Given the description of an element on the screen output the (x, y) to click on. 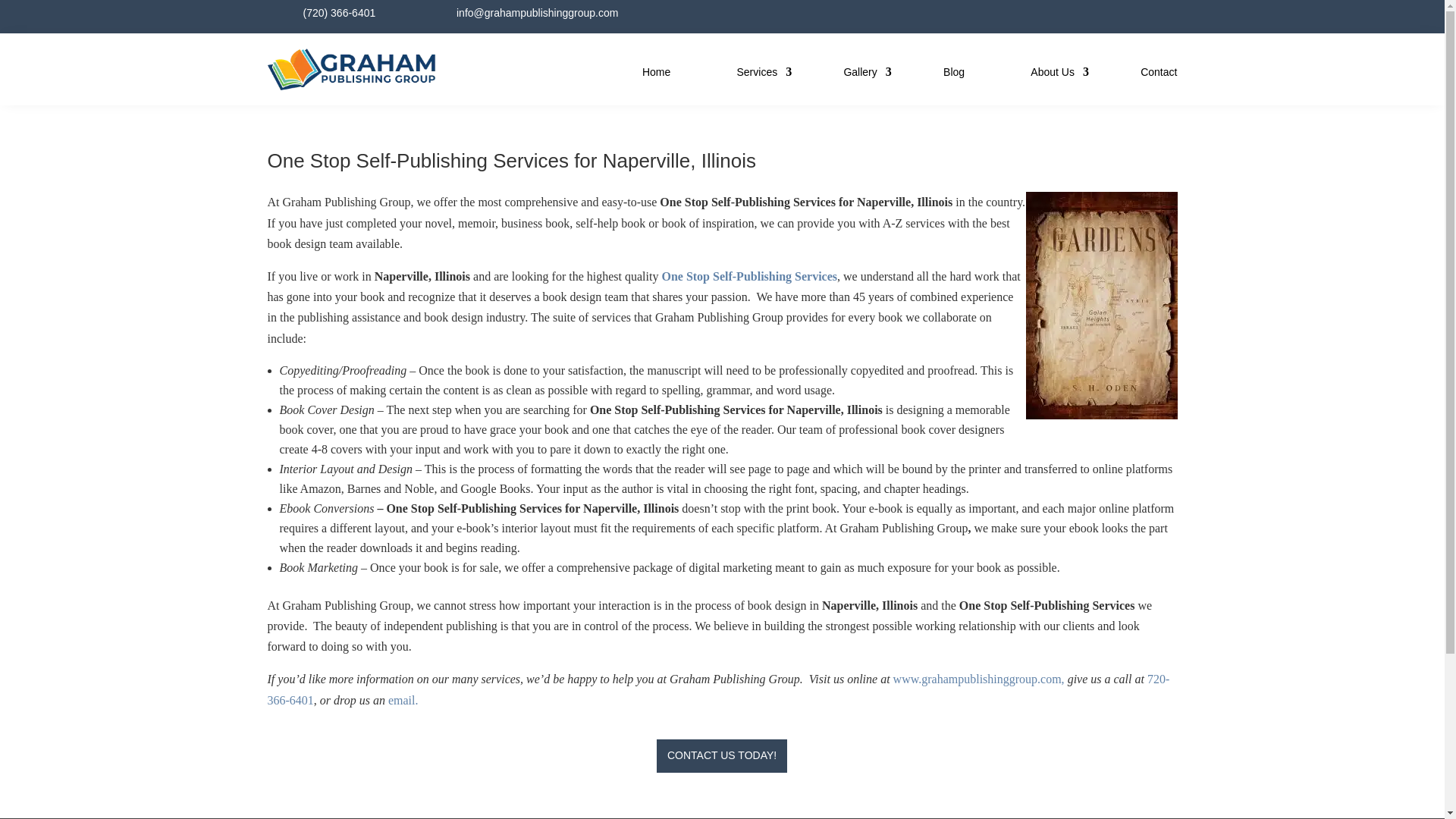
Gallery (859, 72)
www.grahampublishinggroup.com, (978, 678)
Home (655, 72)
One Stop Self-Publishing Services (749, 276)
Graham Publishing Group logo (352, 85)
Contact (1158, 72)
Services (756, 72)
About Us (1052, 72)
